Given the description of an element on the screen output the (x, y) to click on. 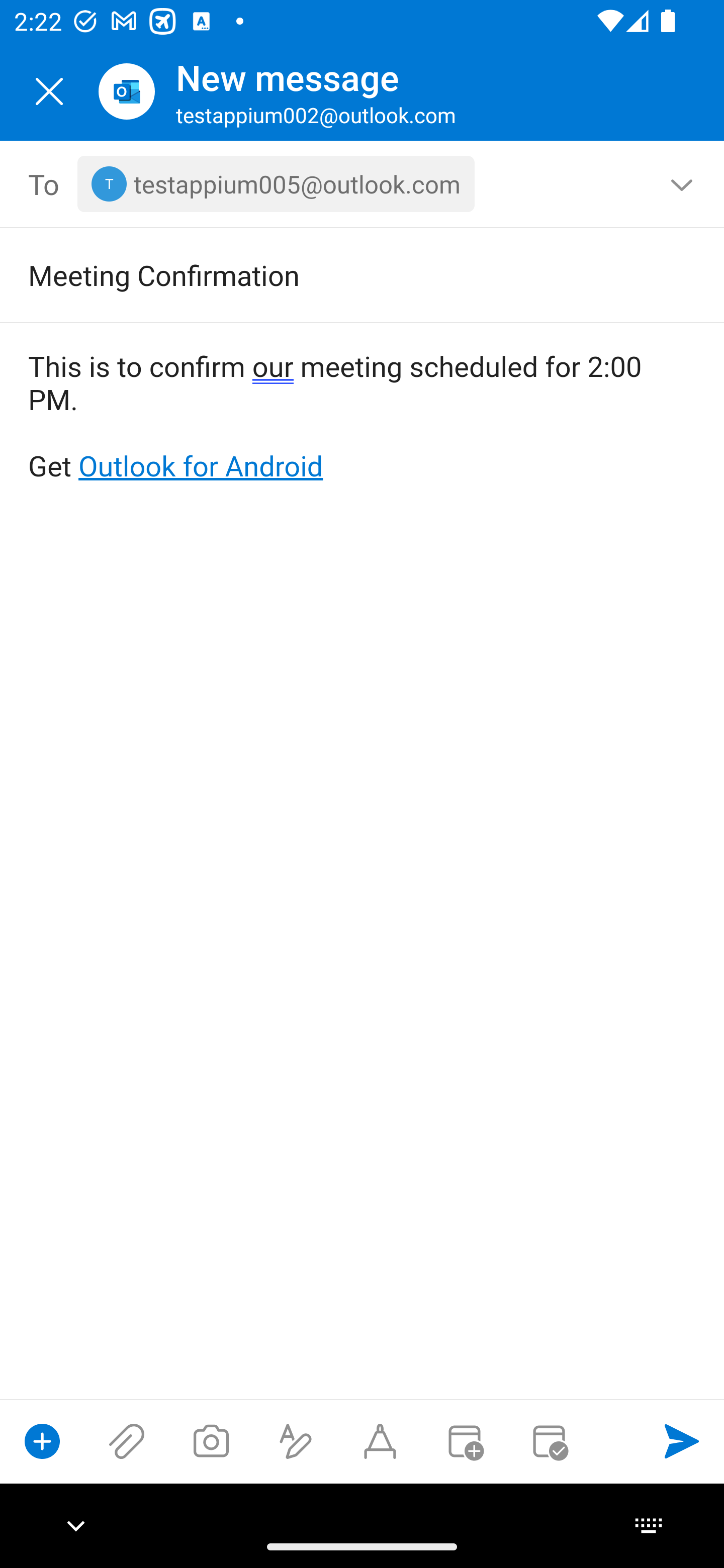
Close (49, 91)
Meeting Confirmation (333, 274)
Show compose options (42, 1440)
Attach files (126, 1440)
Take a photo (210, 1440)
Show formatting options (295, 1440)
Start Ink compose (380, 1440)
Convert to event (464, 1440)
Send availability (548, 1440)
Send (681, 1440)
